Given the description of an element on the screen output the (x, y) to click on. 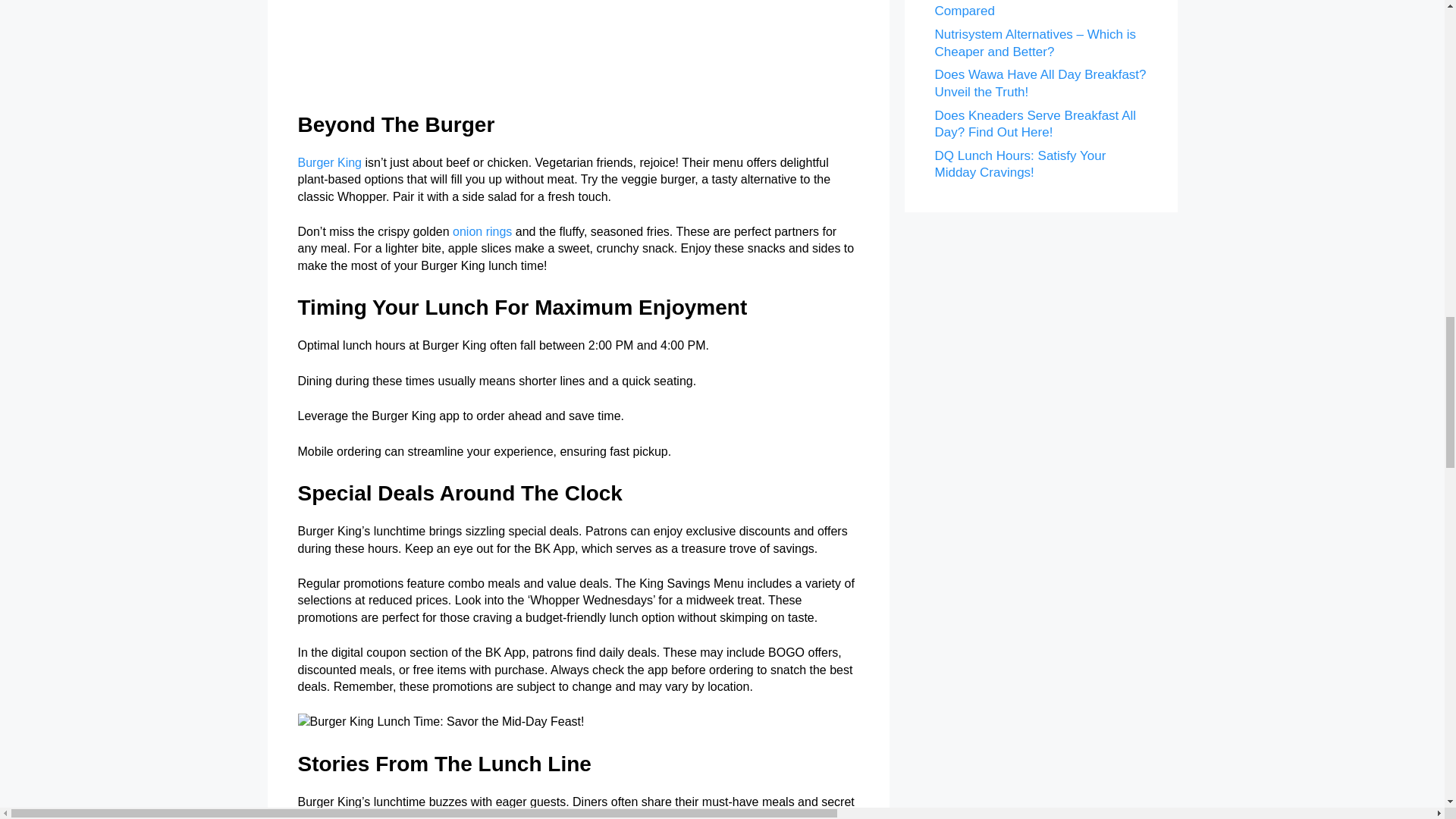
Burger King (329, 162)
